Given the description of an element on the screen output the (x, y) to click on. 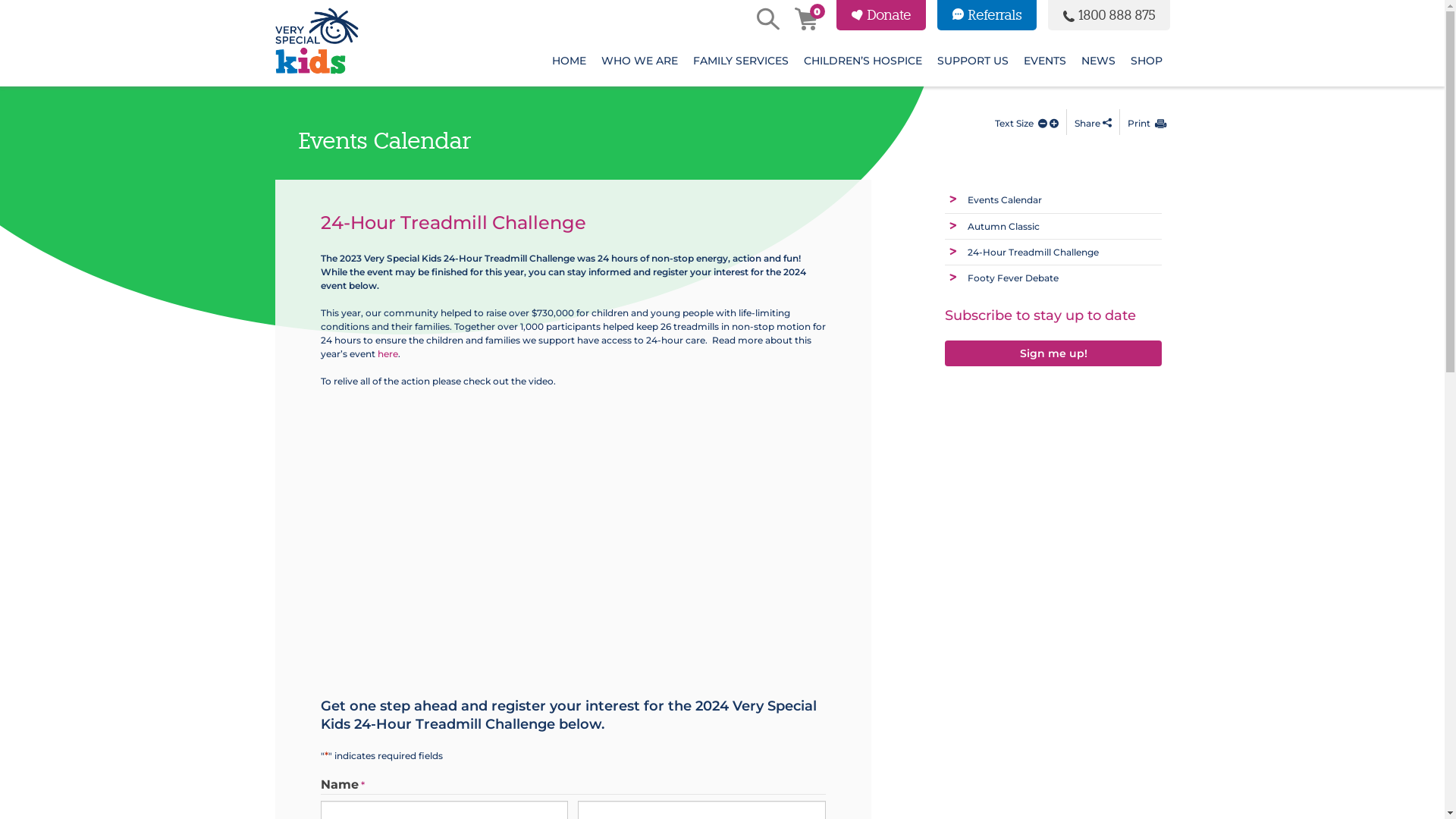
EVENTS Element type: text (1044, 60)
SUPPORT US Element type: text (972, 60)
SHOP Element type: text (1145, 60)
Sign me up! Element type: text (1053, 353)
0 Element type: text (805, 20)
Events Calendar Element type: text (1004, 199)
1800 888 875 Element type: text (1109, 15)
Footy Fever Debate Element type: text (1012, 277)
2023 24-Hour Treadmill Challenge Element type: hover (556, 534)
Sign me up! Element type: text (1053, 351)
WHO WE ARE Element type: text (638, 60)
here Element type: text (387, 353)
Referrals Element type: text (986, 15)
HOME Element type: text (568, 60)
24-Hour Treadmill Challenge Element type: text (1032, 251)
Donate Element type: text (880, 15)
Autumn Classic Element type: text (1003, 226)
FAMILY SERVICES Element type: text (740, 60)
NEWS Element type: text (1098, 60)
